Given the description of an element on the screen output the (x, y) to click on. 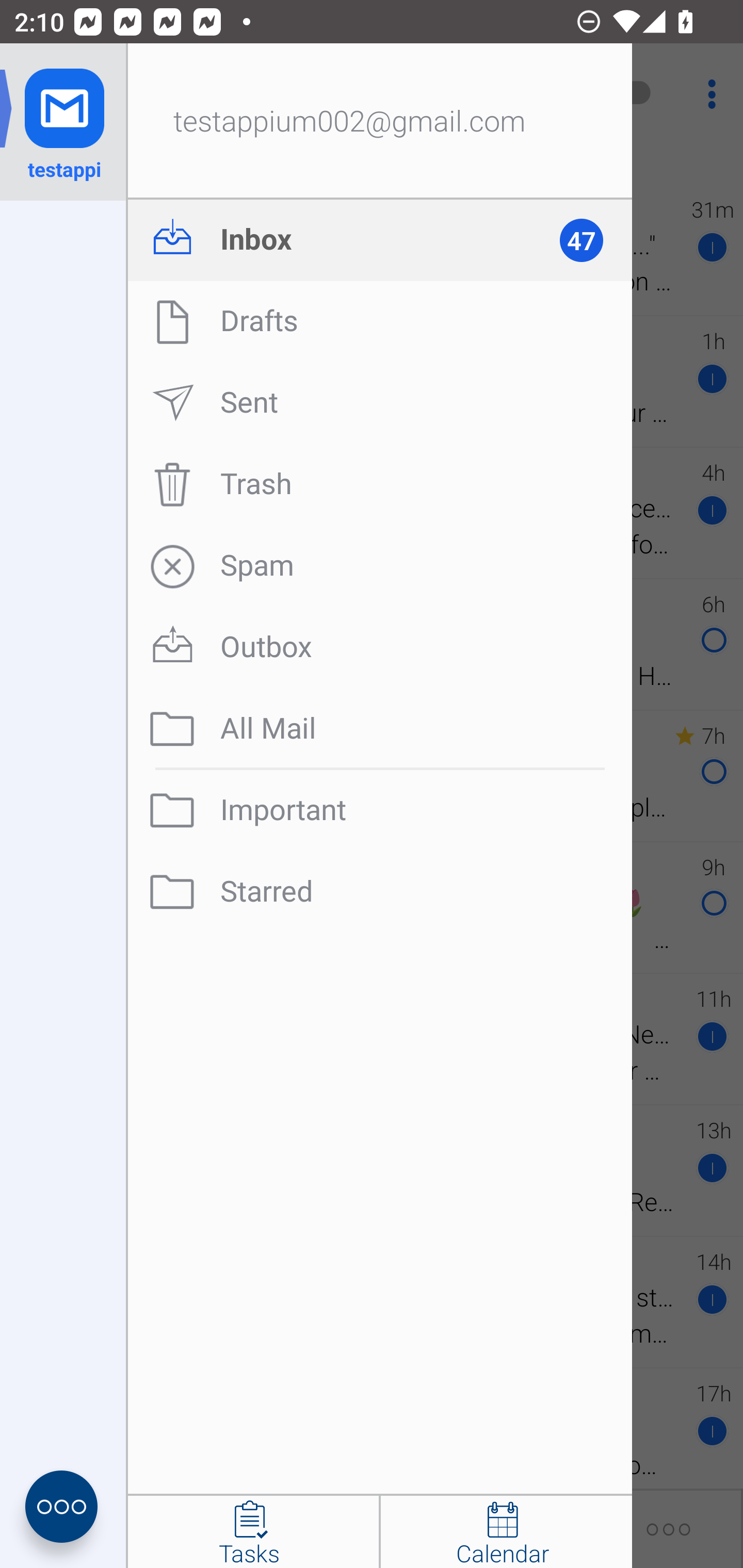
Navigate up (81, 93)
testappium002@gmail.com (379, 121)
Inbox 47 (379, 239)
47 (590, 239)
Drafts (379, 321)
Sent (379, 402)
Trash (379, 484)
Spam (379, 565)
Outbox (379, 647)
All Mail (379, 728)
Important (379, 810)
Starred (379, 891)
Tasks (252, 1531)
Calendar (506, 1531)
